Given the description of an element on the screen output the (x, y) to click on. 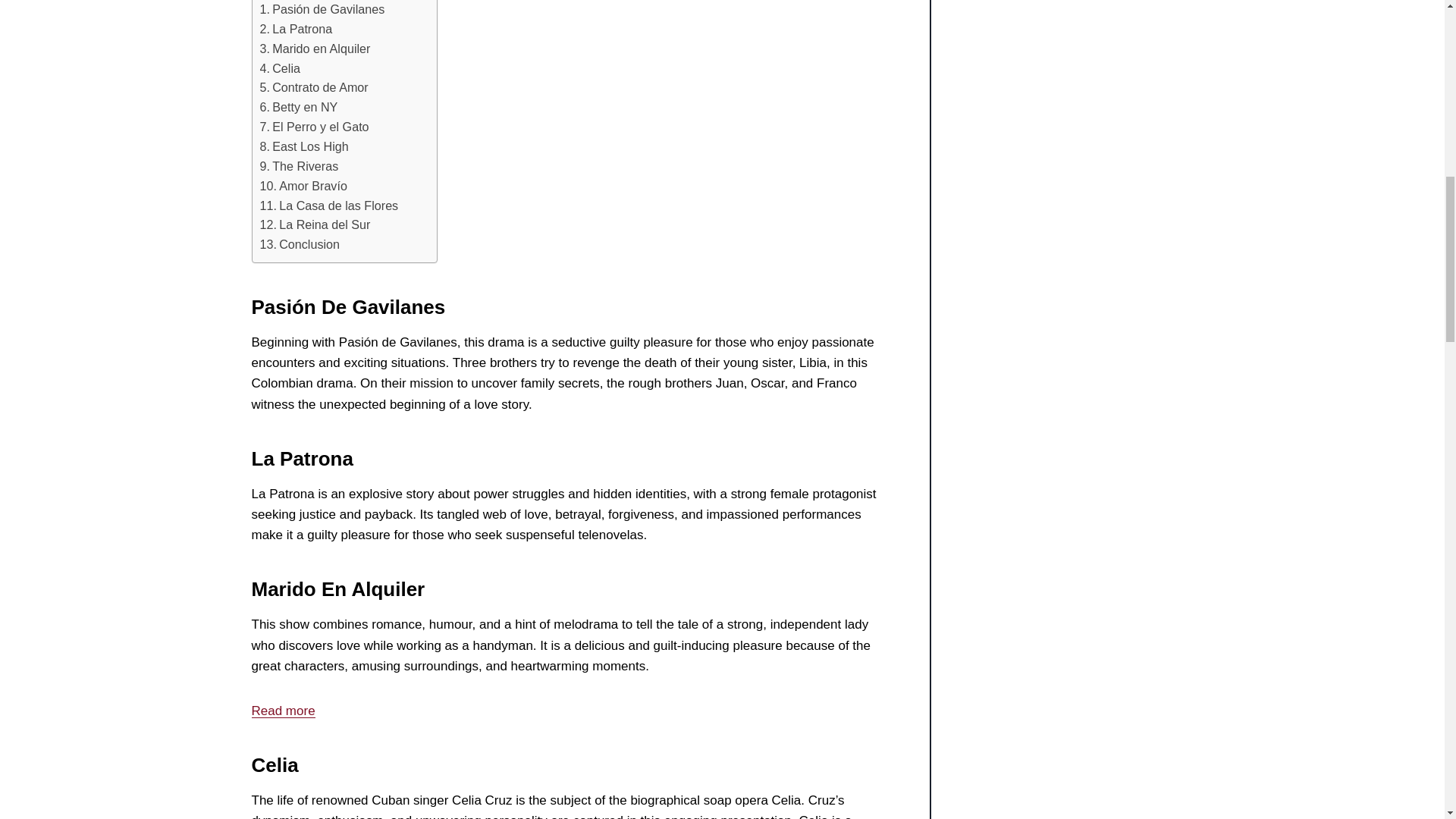
Betty en NY (298, 107)
La Patrona (295, 29)
El Perro y el Gato (313, 127)
Marido en Alquiler (314, 48)
El Perro y el Gato (313, 127)
Conclusion (299, 244)
La Reina del Sur (314, 225)
The Riveras (298, 166)
La Casa de las Flores (328, 206)
Betty en NY (298, 107)
Celia (279, 68)
Contrato de Amor (313, 87)
Read more (283, 710)
La Reina del Sur (314, 225)
La Patrona (295, 29)
